Given the description of an element on the screen output the (x, y) to click on. 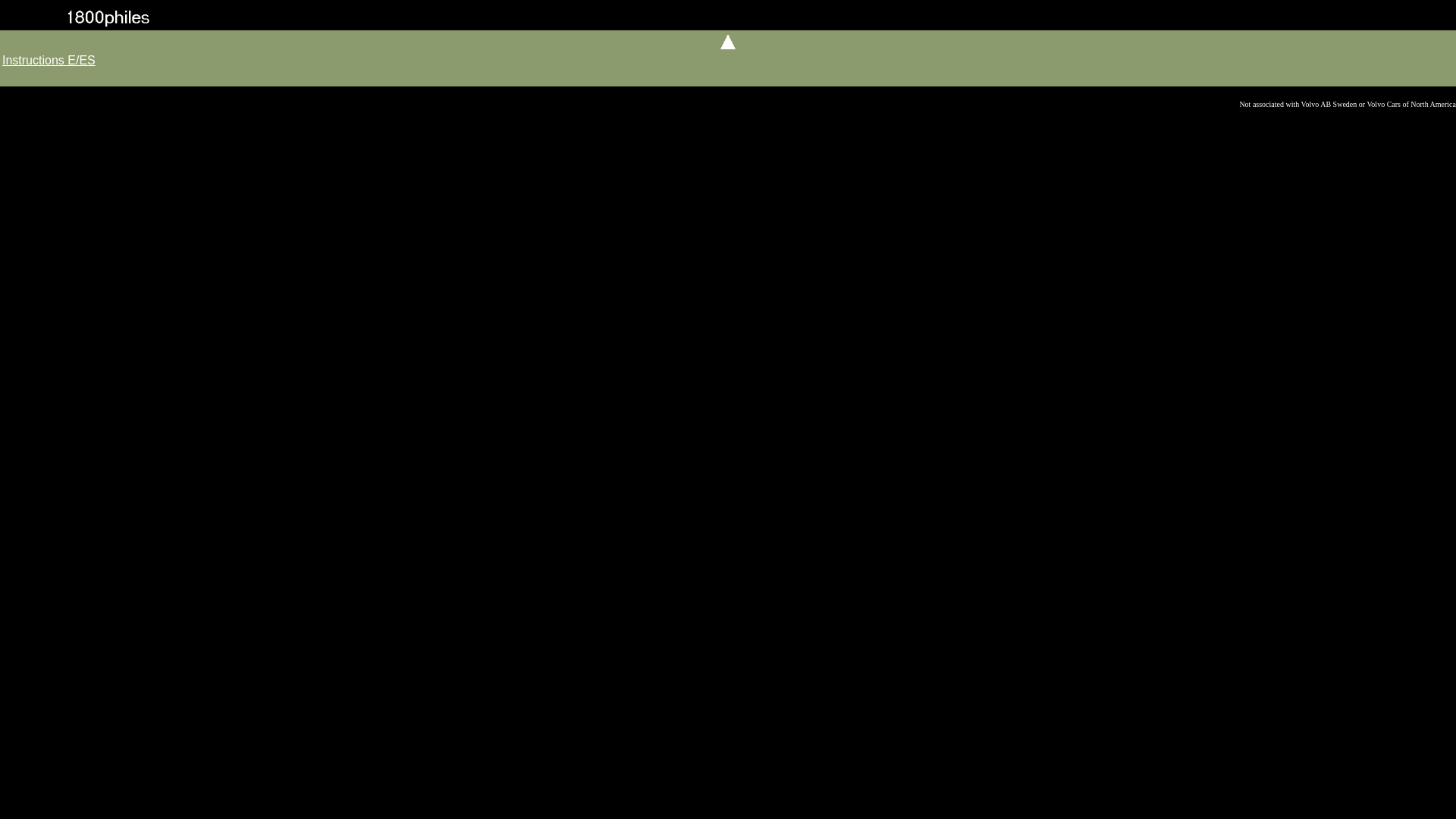
Instructions E/ES Element type: text (48, 59)
